Given the description of an element on the screen output the (x, y) to click on. 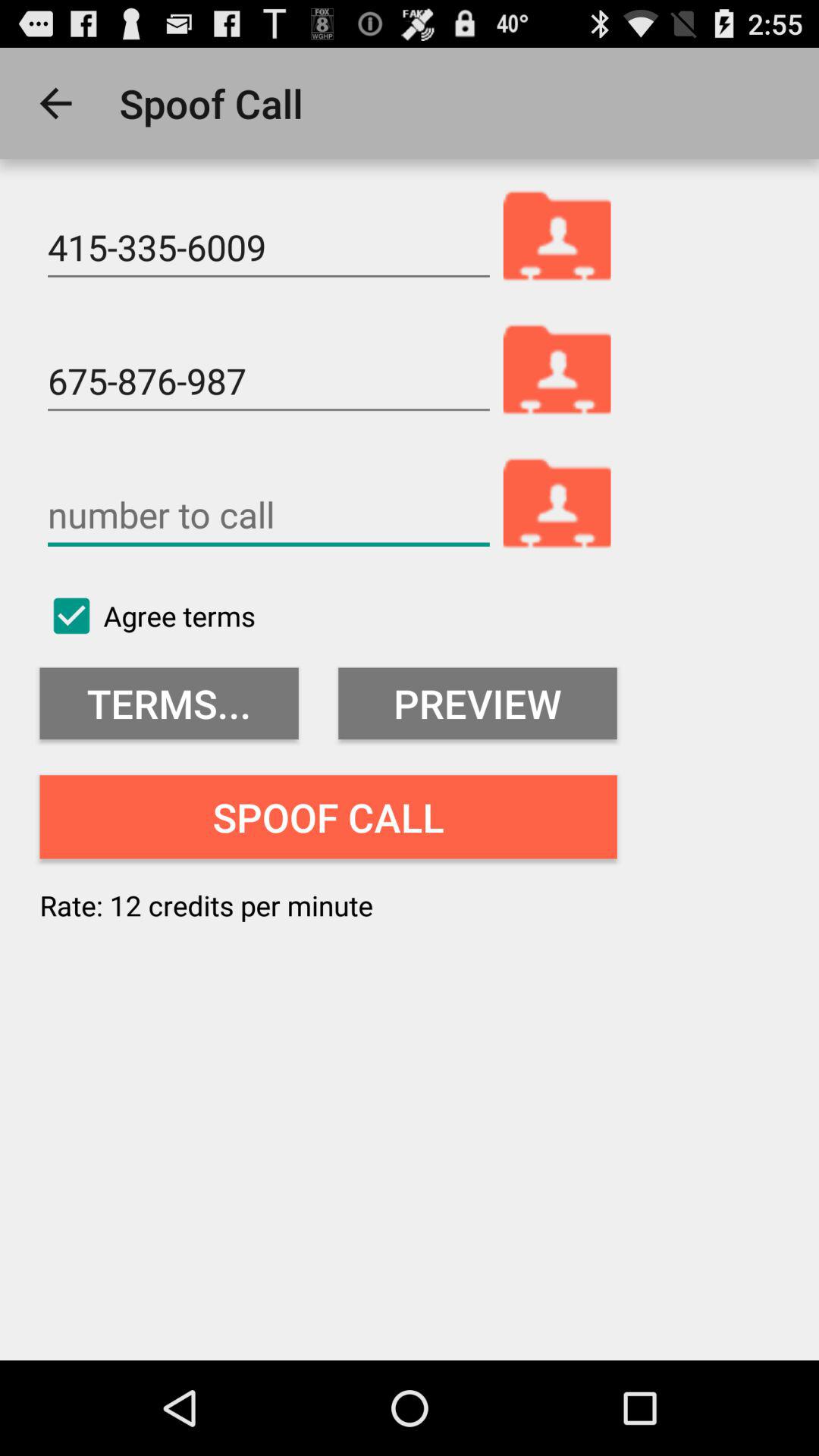
launch the 675-876-987 icon (268, 381)
